Given the description of an element on the screen output the (x, y) to click on. 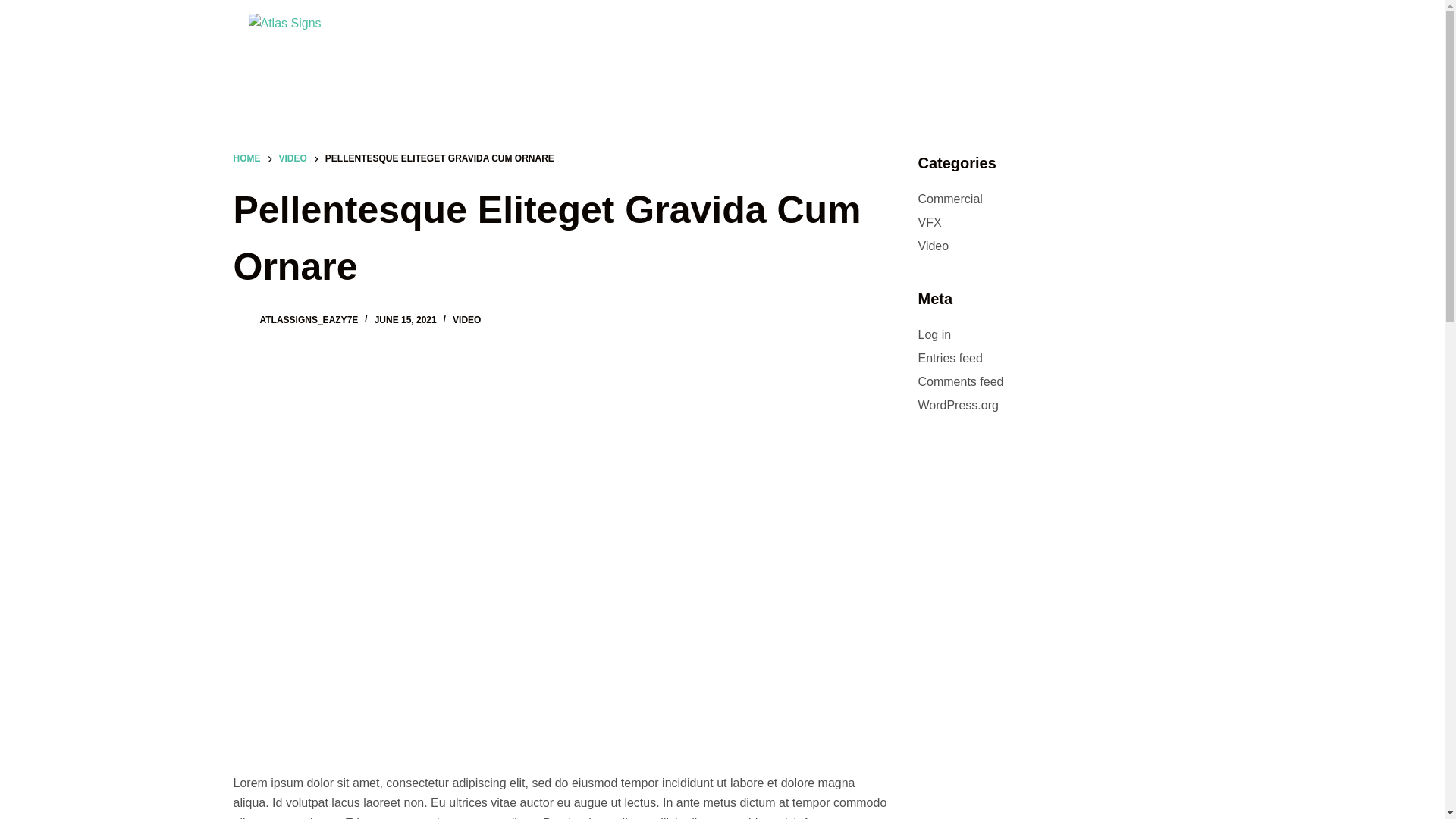
Entries feed Element type: text (949, 357)
Video Element type: text (932, 245)
VIDEO Element type: text (466, 319)
Commercial Element type: text (949, 198)
HOME Element type: text (246, 158)
VFX Element type: text (929, 222)
Comments feed Element type: text (960, 381)
WordPress.org Element type: text (957, 404)
VIDEO Element type: text (293, 158)
ATLASSIGNS_EAZY7E Element type: text (308, 319)
Skip to content Element type: text (15, 7)
Log in Element type: text (933, 334)
